Given the description of an element on the screen output the (x, y) to click on. 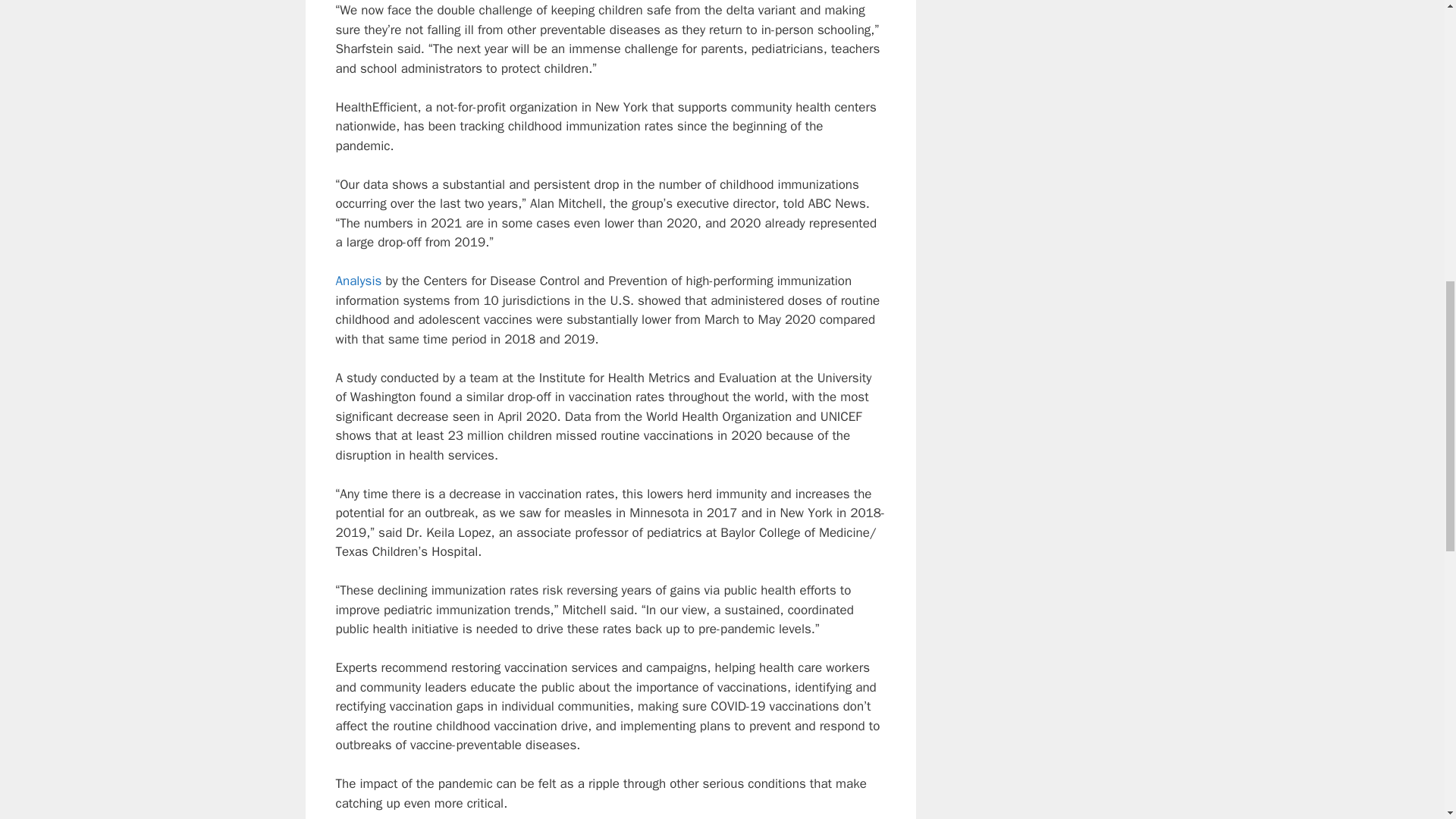
Analysis (357, 280)
